Given the description of an element on the screen output the (x, y) to click on. 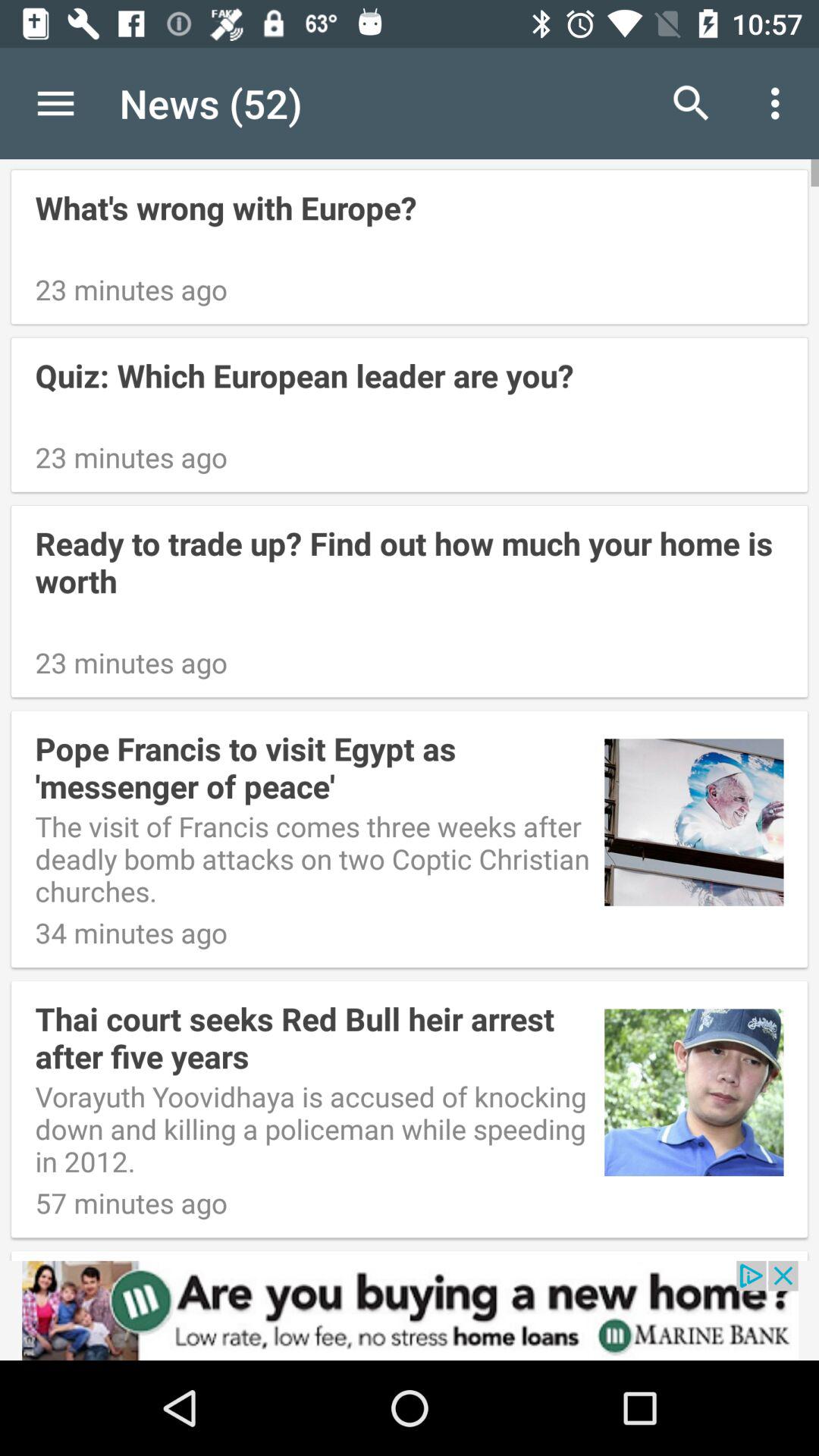
select advertisement (409, 1310)
